Given the description of an element on the screen output the (x, y) to click on. 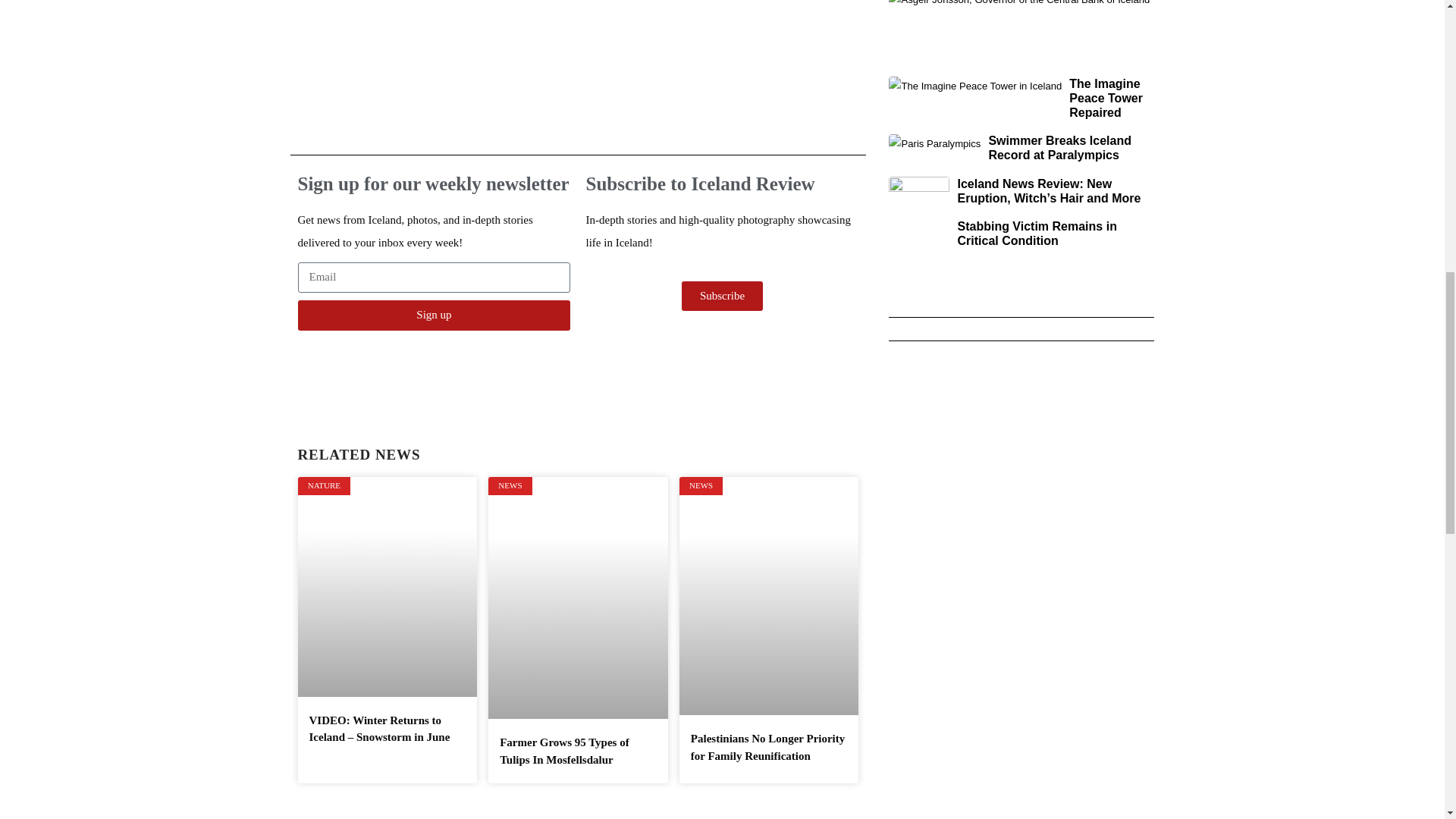
Stabbing Victim Remains in Critical Condition (1036, 233)
The Imagine Peace Tower Repaired (1105, 97)
Swimmer Breaks Iceland Record at Paralympics (1059, 147)
